Given the description of an element on the screen output the (x, y) to click on. 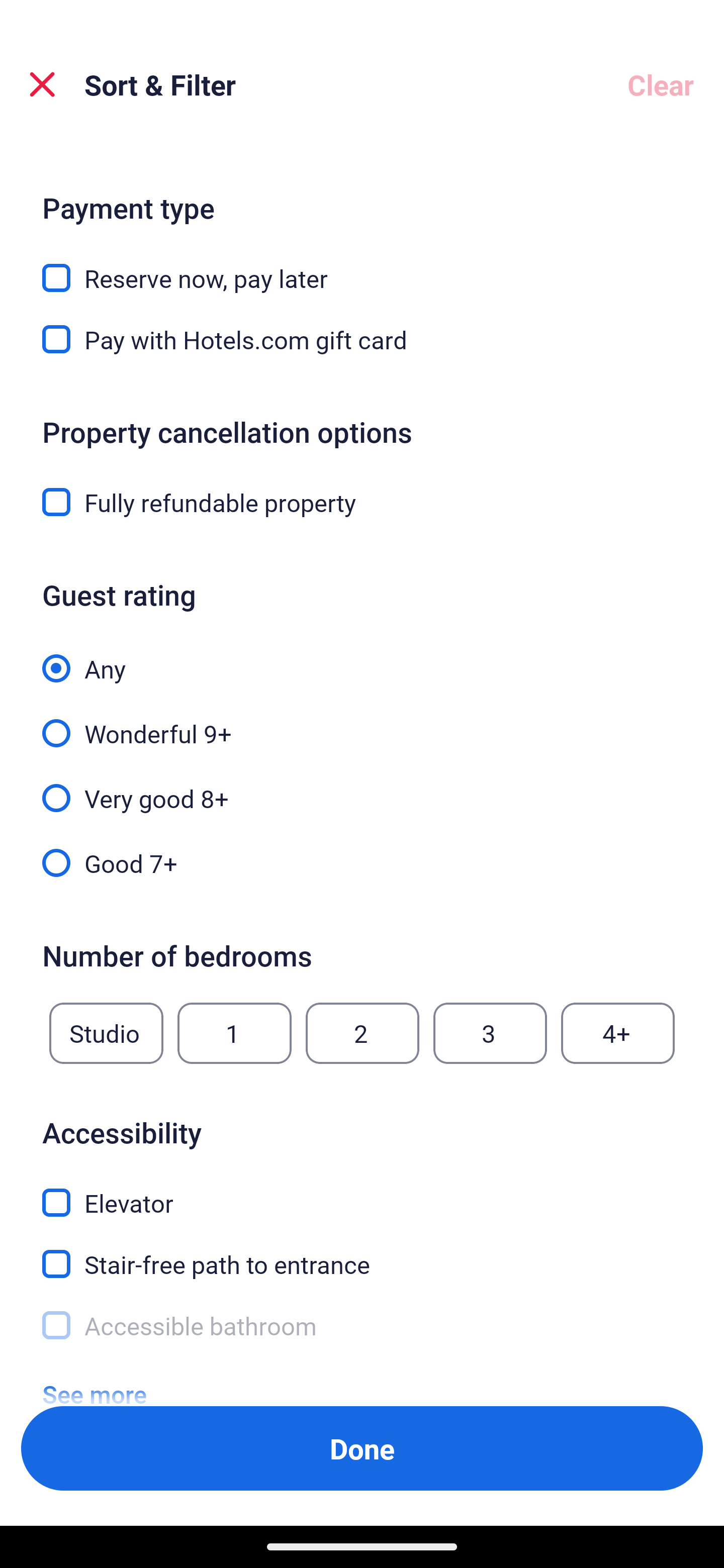
Close Sort and Filter (42, 84)
Clear (660, 84)
Reserve now, pay later, Reserve now, pay later (361, 266)
Wonderful 9+ (361, 721)
Very good 8+ (361, 787)
Good 7+ (361, 862)
Studio (106, 1032)
1 (234, 1032)
2 (362, 1032)
3 (490, 1032)
4+ (617, 1032)
Elevator, Elevator (361, 1190)
Accessible bathroom, Accessible bathroom (361, 1325)
See more See more accessibility options Link (93, 1378)
Apply and close Sort and Filter Done (361, 1448)
